Given the description of an element on the screen output the (x, y) to click on. 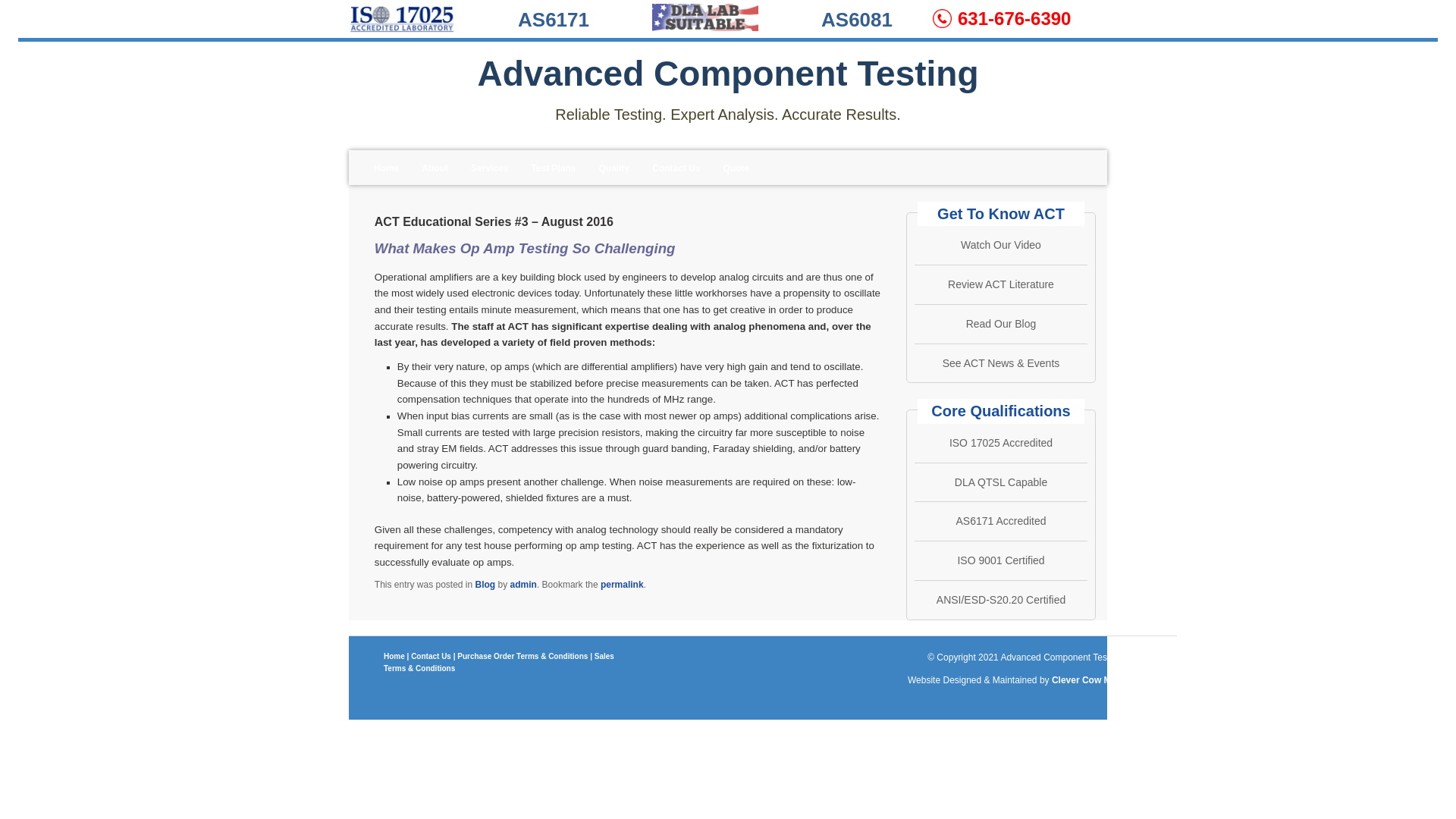
Blog (486, 584)
Quote (736, 168)
Read Our Blog (1001, 323)
Contact Us (675, 168)
permalink (621, 584)
ISO 17025 Accredited (1000, 442)
DLA QTSL Capable (1000, 481)
Test Plans (552, 168)
Home (386, 168)
Quality (615, 168)
About (435, 168)
Review ACT Literature (1000, 284)
admin (524, 584)
Watch Our Video (1000, 244)
Services (489, 168)
